Given the description of an element on the screen output the (x, y) to click on. 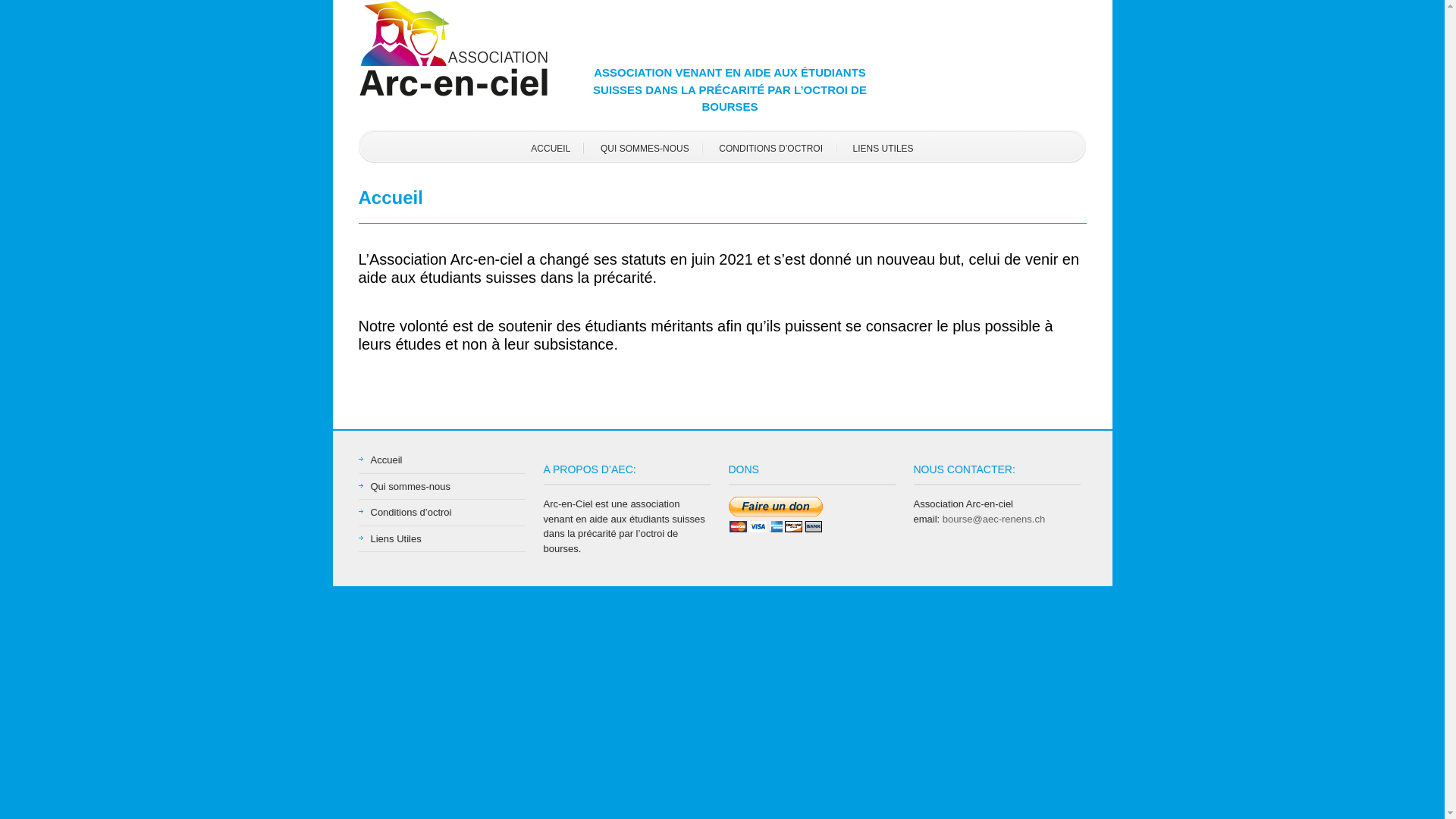
QUI SOMMES-NOUS Element type: text (644, 147)
ACCUEIL Element type: text (550, 147)
Qui sommes-nous Element type: text (409, 486)
Faites un don via Paypal Element type: hover (775, 514)
bourse@aec-renens.ch Element type: text (993, 518)
LIENS UTILES Element type: text (883, 147)
Accueil Element type: text (385, 459)
Liens Utiles Element type: text (395, 537)
